Given the description of an element on the screen output the (x, y) to click on. 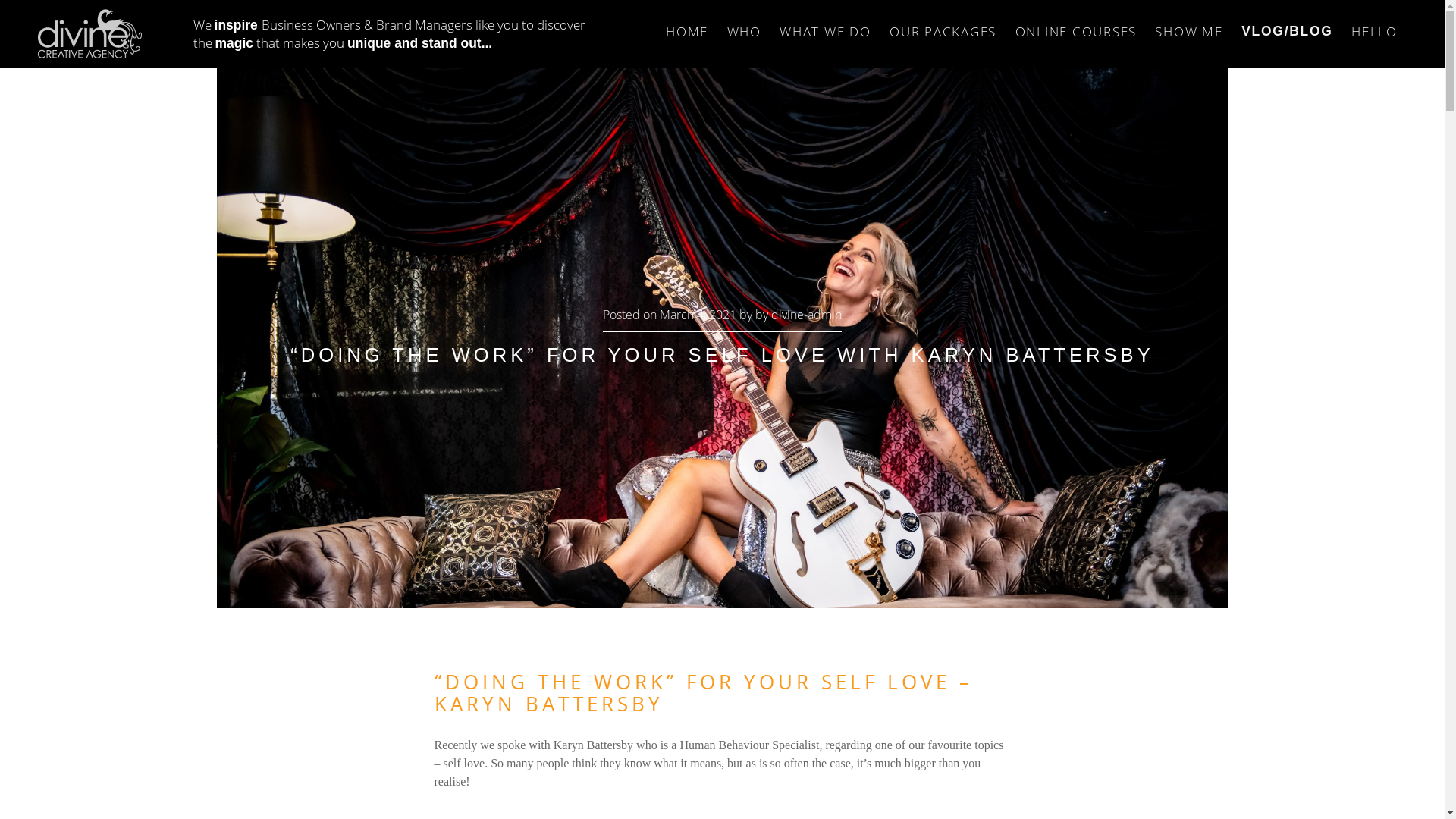
WHO Element type: text (743, 24)
March 4, 2021 Element type: text (697, 314)
HOME Element type: text (686, 24)
VLOG/BLOG Element type: text (1287, 24)
HELLO Element type: text (1374, 24)
OUR PACKAGES Element type: text (942, 24)
SHOW ME Element type: text (1188, 24)
divine-admin Element type: text (806, 314)
ONLINE COURSES Element type: text (1075, 24)
WHAT WE DO Element type: text (825, 24)
